Given the description of an element on the screen output the (x, y) to click on. 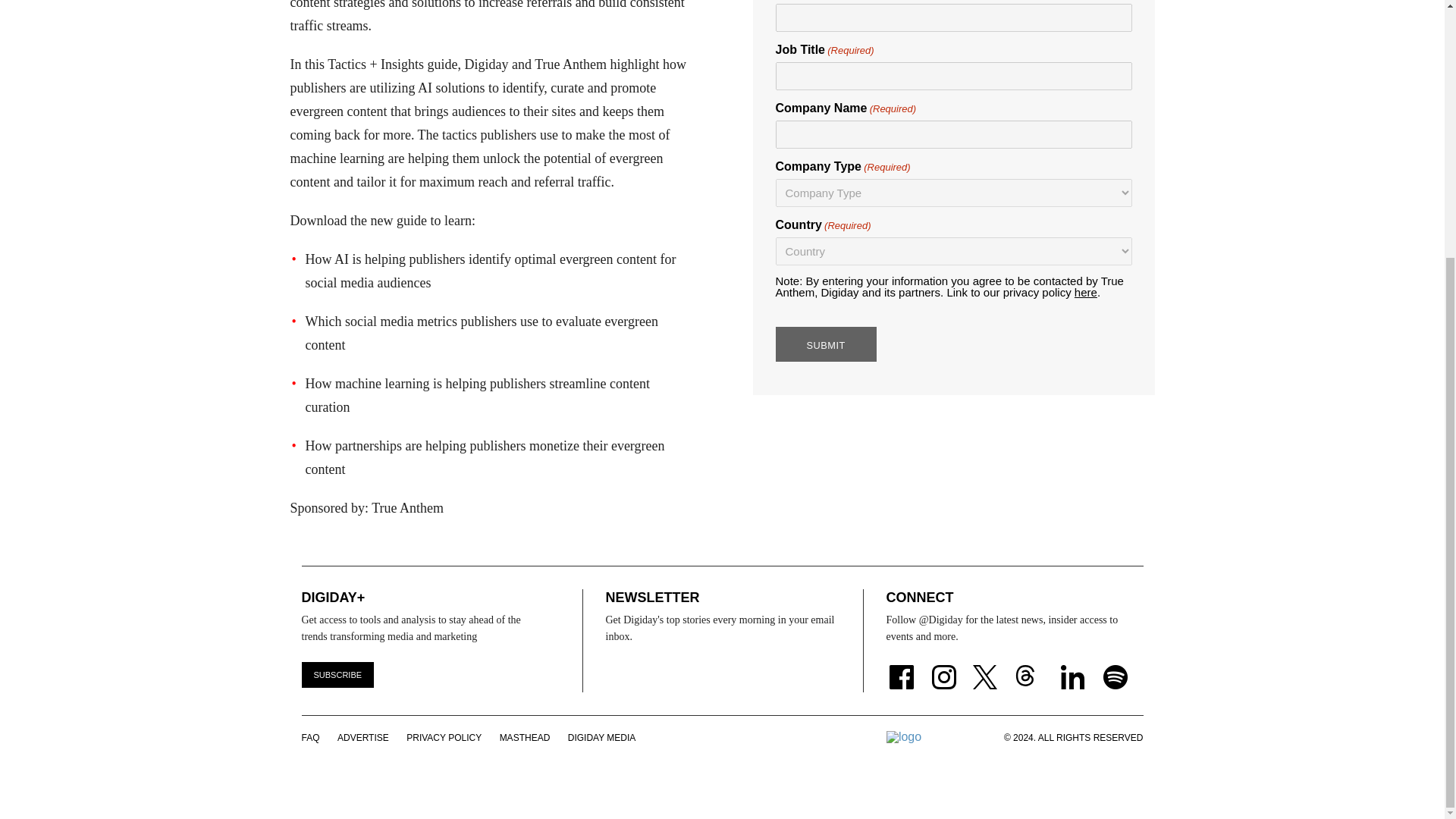
Follow us on Instagram (943, 667)
Like us on Facebook (900, 667)
Subscribe (337, 674)
Follow us on LinkedIn (1072, 667)
Follow us on Twitter (987, 667)
Follow us on Spotify (1115, 667)
Follow us on Threads (1032, 667)
Submit (825, 343)
